Given the description of an element on the screen output the (x, y) to click on. 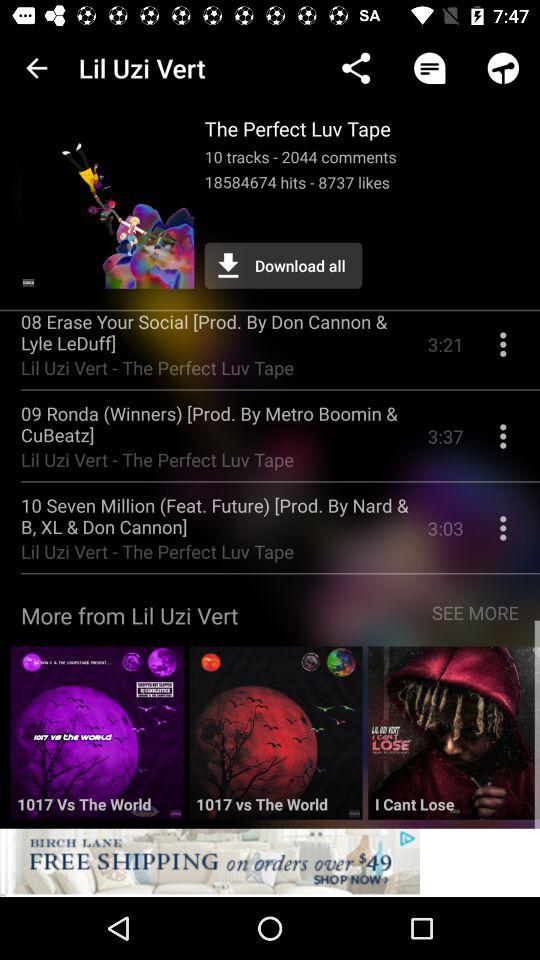
click item above the perfect luv icon (356, 67)
